Given the description of an element on the screen output the (x, y) to click on. 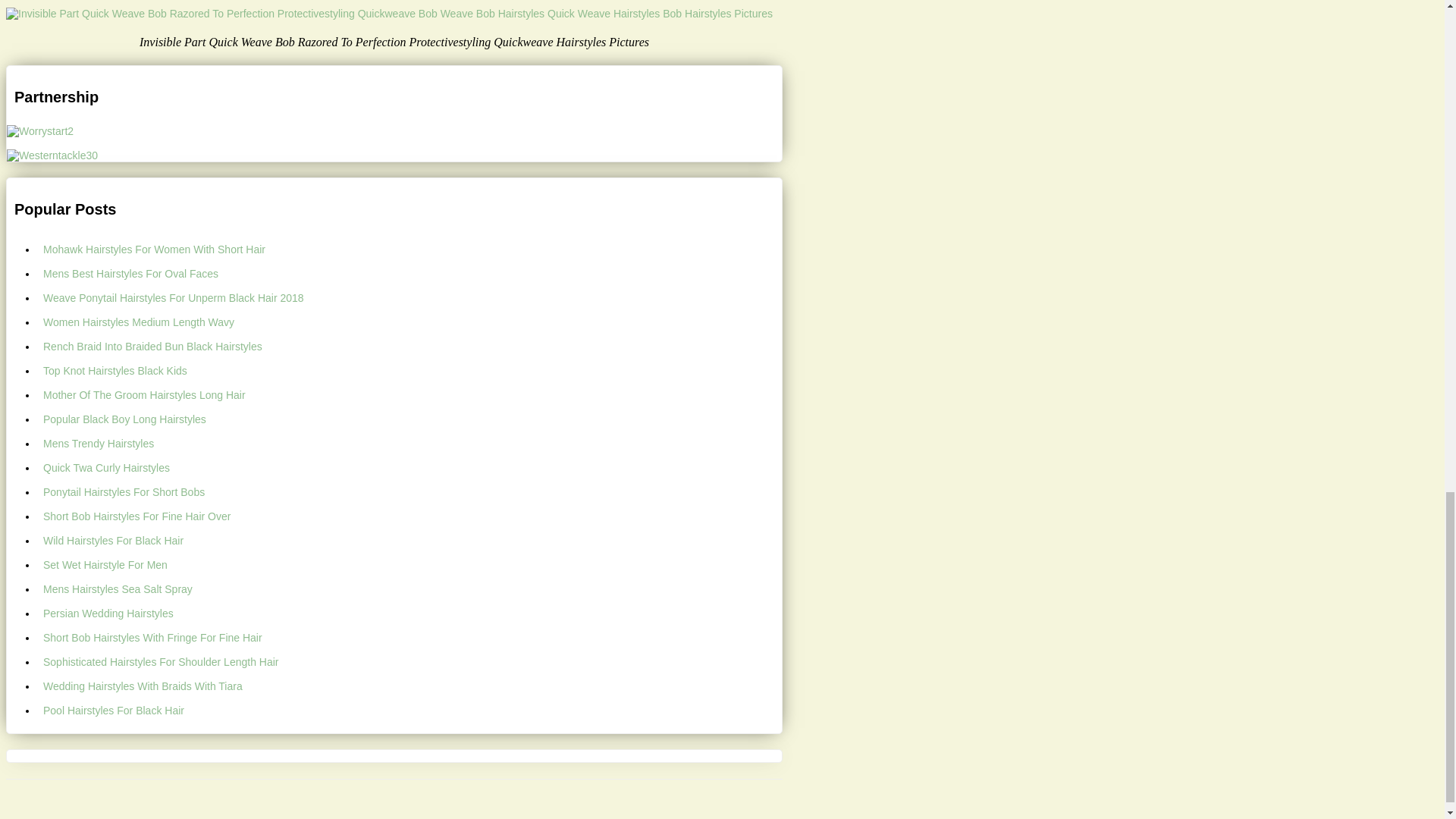
Mens Best Hairstyles For Oval Faces (409, 273)
Quick Twa Curly Hairstyles (409, 467)
Set Wet Hairstyle For Men (409, 564)
Short Bob Hairstyles For Fine Hair Over (409, 516)
Ponytail Hairstyles For Short Bobs (409, 491)
Wild Hairstyles For Black Hair (409, 540)
Top Knot Hairstyles Black Kids (409, 370)
Weave Ponytail Hairstyles For Unperm Black Hair 2018 (409, 297)
Mohawk Hairstyles For Women With Short Hair (409, 249)
Mens Trendy Hairstyles (409, 443)
